Given the description of an element on the screen output the (x, y) to click on. 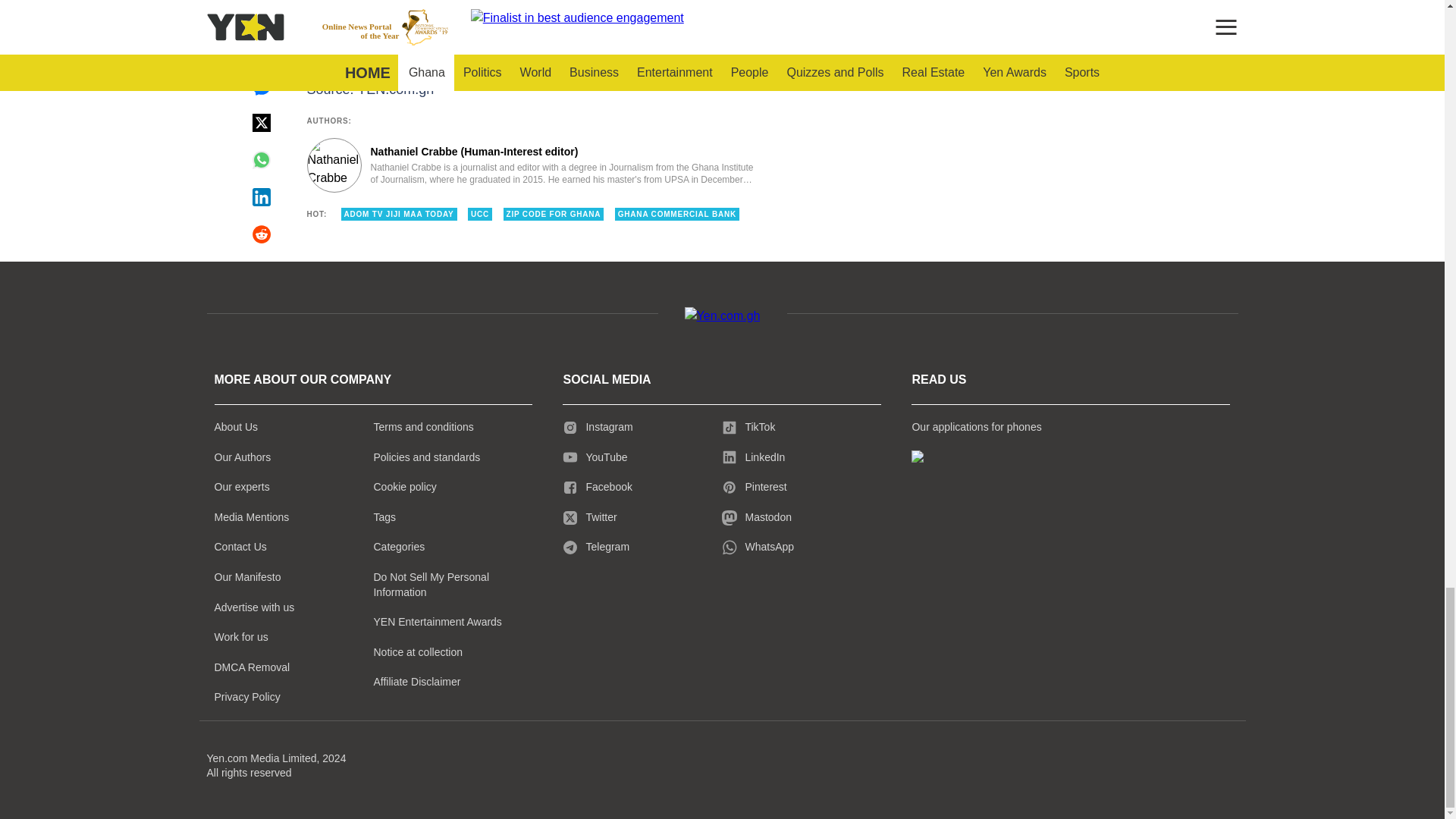
Author page (533, 165)
